Given the description of an element on the screen output the (x, y) to click on. 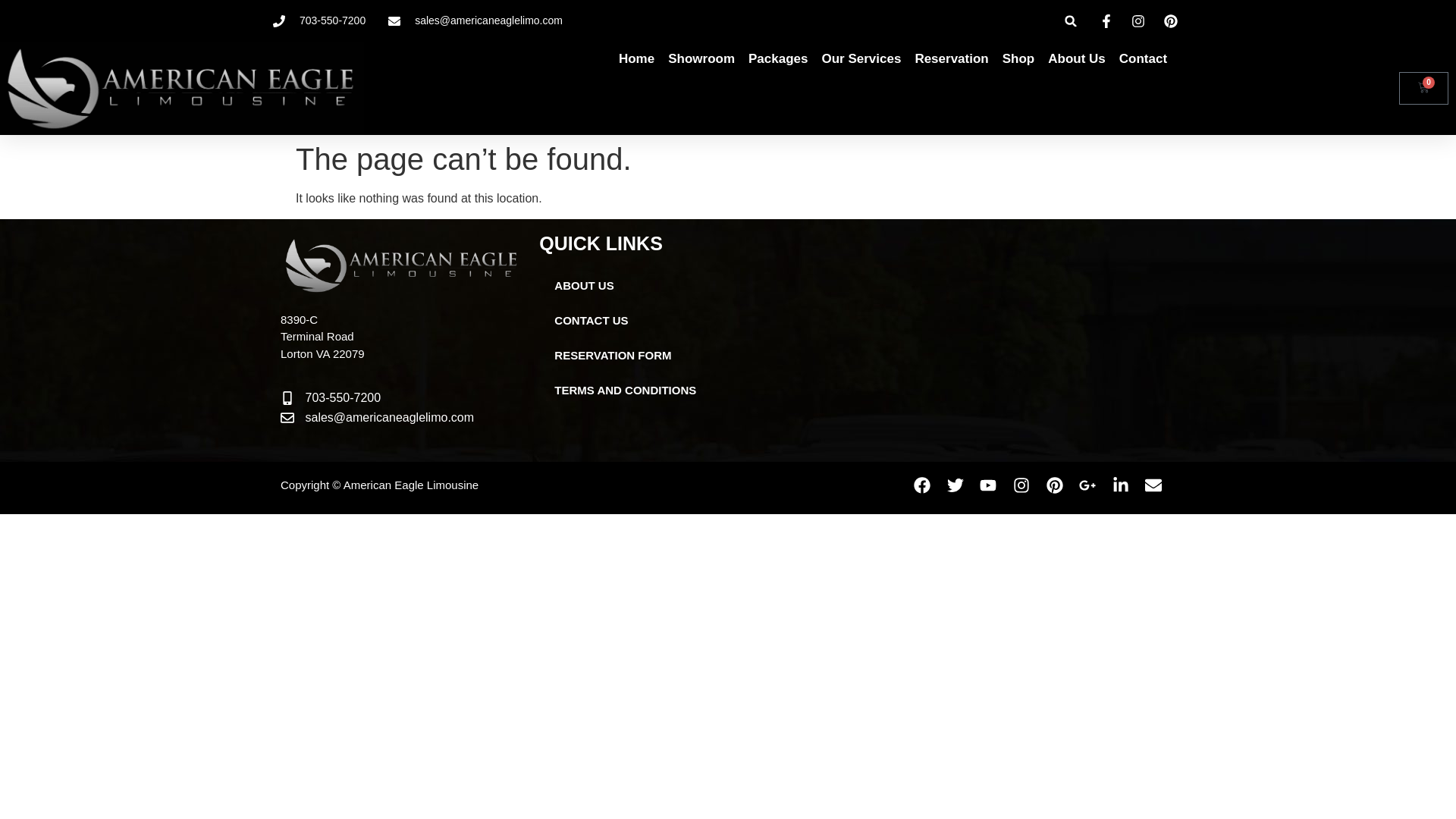
8390 Terminal Road, Lorton VA 22079 (989, 340)
Our Services (861, 58)
Showroom (701, 58)
Packages (778, 58)
About Us (1076, 58)
703-550-7200 (319, 20)
Reservation (951, 58)
Contact (1143, 58)
Shop (1019, 58)
Home (635, 58)
